Given the description of an element on the screen output the (x, y) to click on. 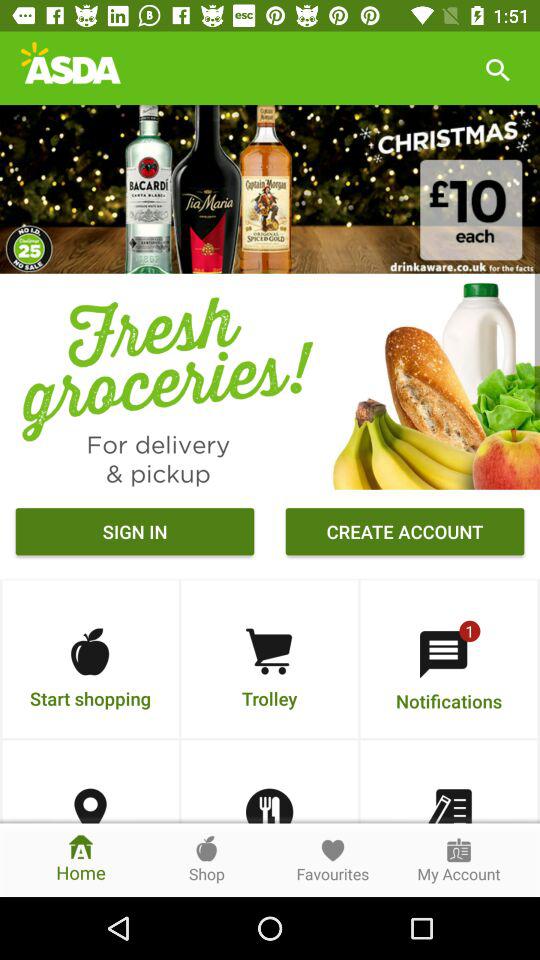
click the item to the left of the create account icon (134, 534)
